Given the description of an element on the screen output the (x, y) to click on. 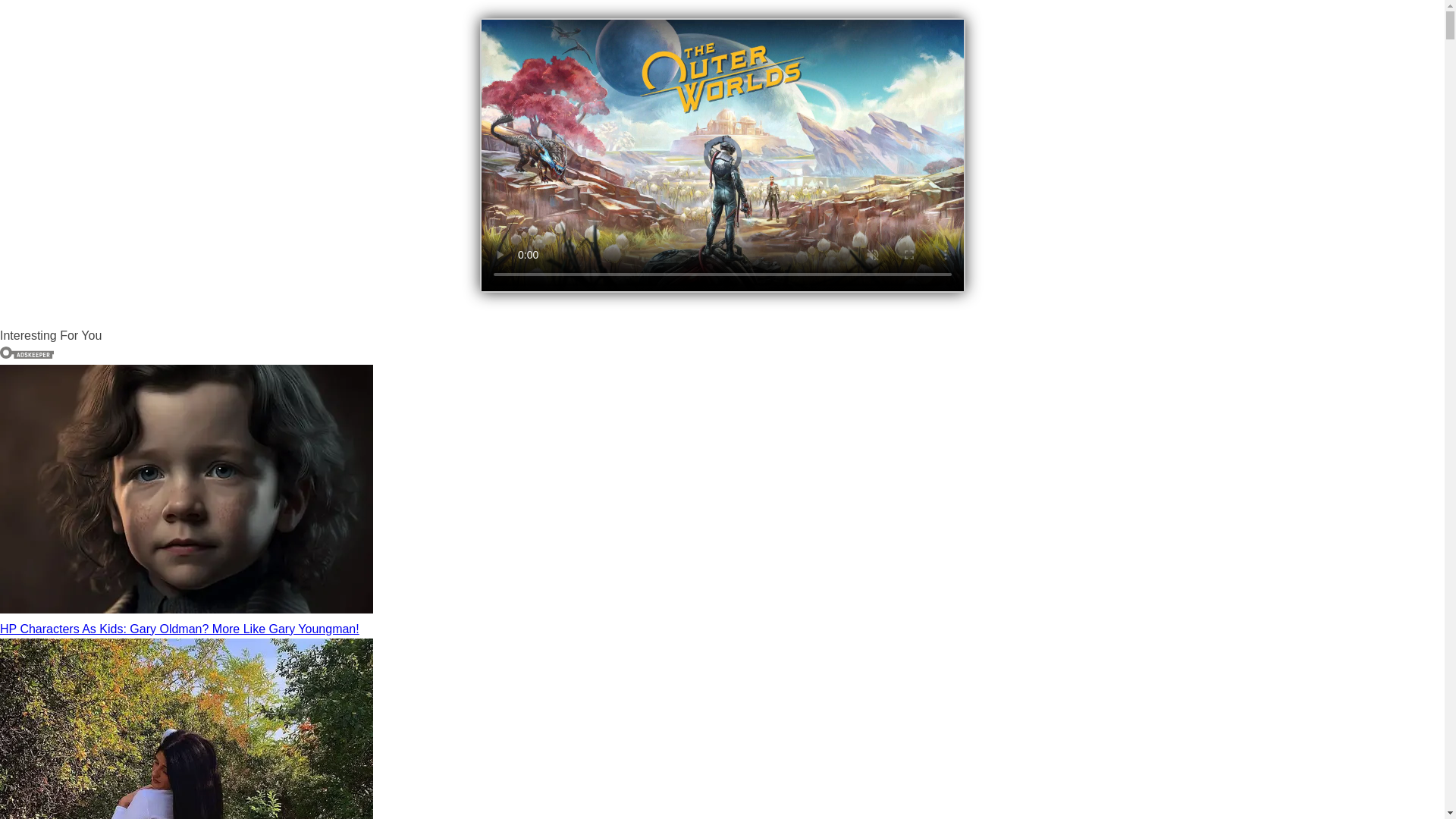
Close (947, 30)
Close (947, 30)
